Given the description of an element on the screen output the (x, y) to click on. 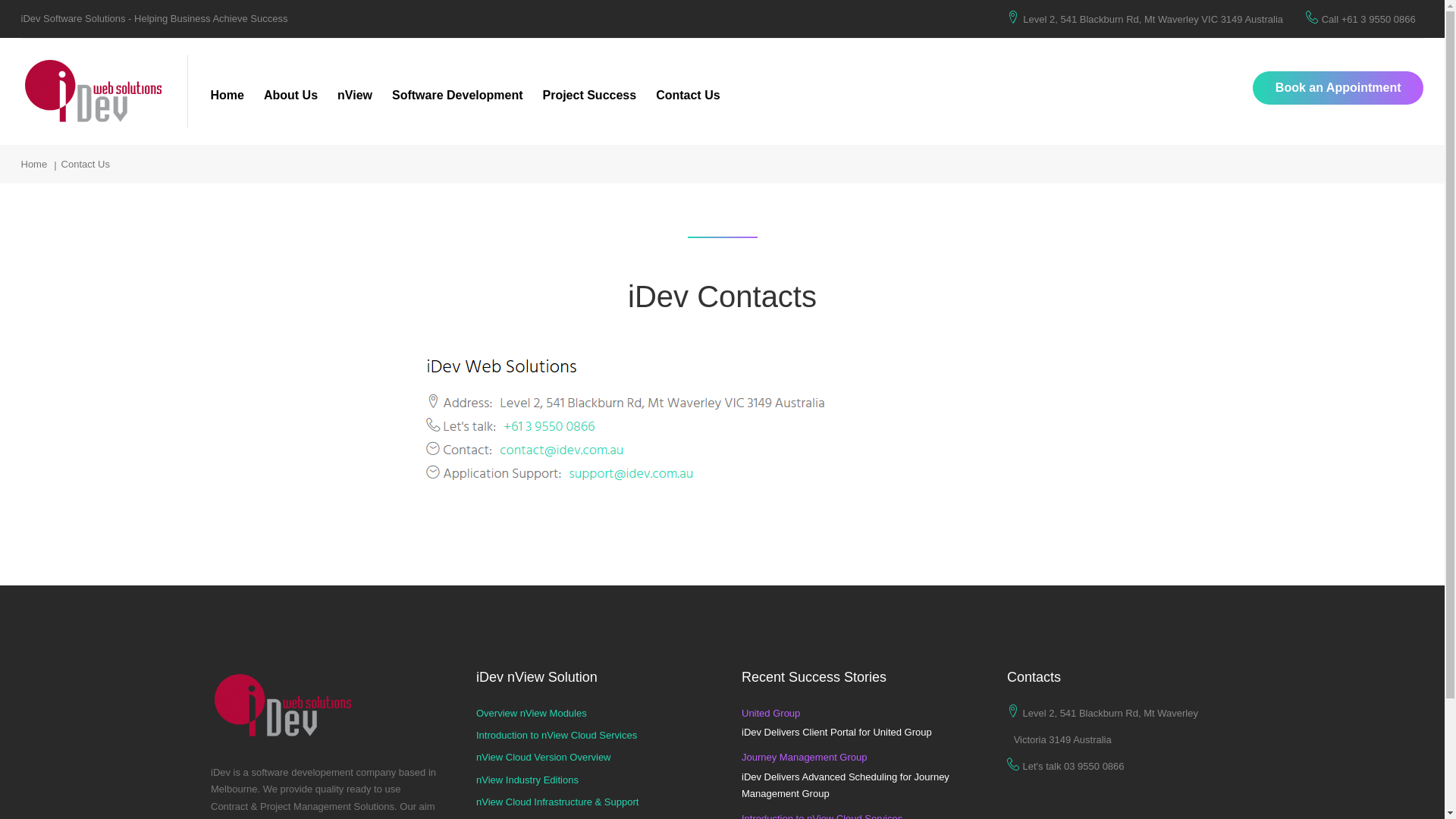
iDev Delivers Client Portal for United Group Element type: text (836, 731)
nView Industry Editions Element type: text (527, 779)
Victoria 3149 Australia Element type: text (1061, 739)
Project Success Element type: text (589, 95)
nView Element type: text (354, 95)
Book an Appointment Element type: text (1338, 87)
03 9550 0866 Element type: text (1093, 766)
Overview nView Modules Element type: text (531, 713)
Introduction to nView Cloud Services Element type: text (556, 735)
nView Cloud Infrastructure & Support Element type: text (557, 801)
Level 2, 541 Blackburn Rd, Mt Waverley Element type: text (1109, 713)
About Us Element type: text (290, 95)
Home Element type: text (34, 163)
nView Cloud Version Overview Element type: text (543, 757)
Contact Us Element type: text (85, 163)
Level 2, 541 Blackburn Rd, Mt Waverley VIC 3149 Australia Element type: text (1152, 19)
Contact Us Element type: text (687, 95)
+61 3 9550 0866 Element type: text (1378, 19)
Home Element type: text (227, 95)
Software Development Element type: text (457, 95)
